Given the description of an element on the screen output the (x, y) to click on. 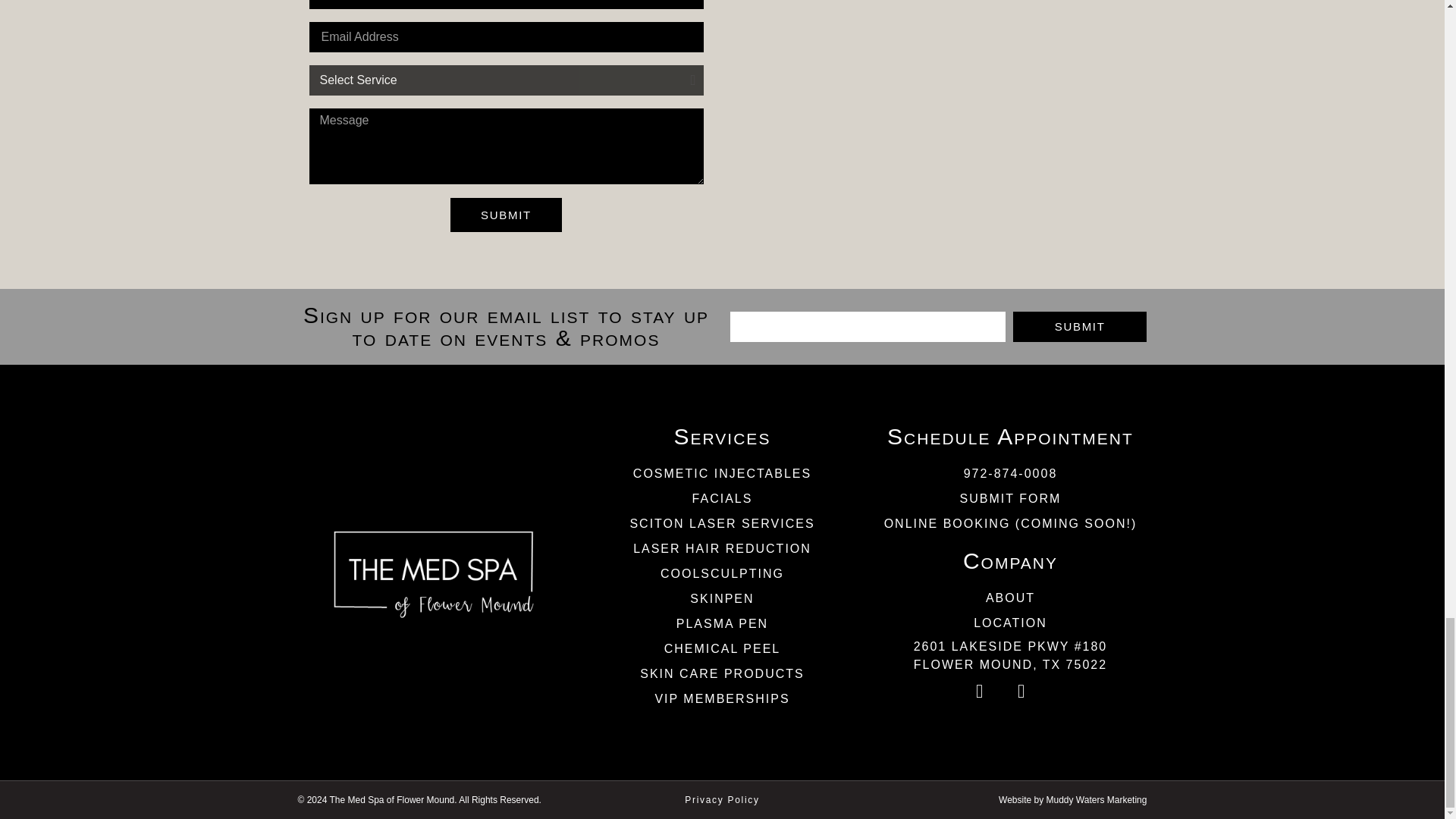
the med spa of flower mound (938, 108)
